Given the description of an element on the screen output the (x, y) to click on. 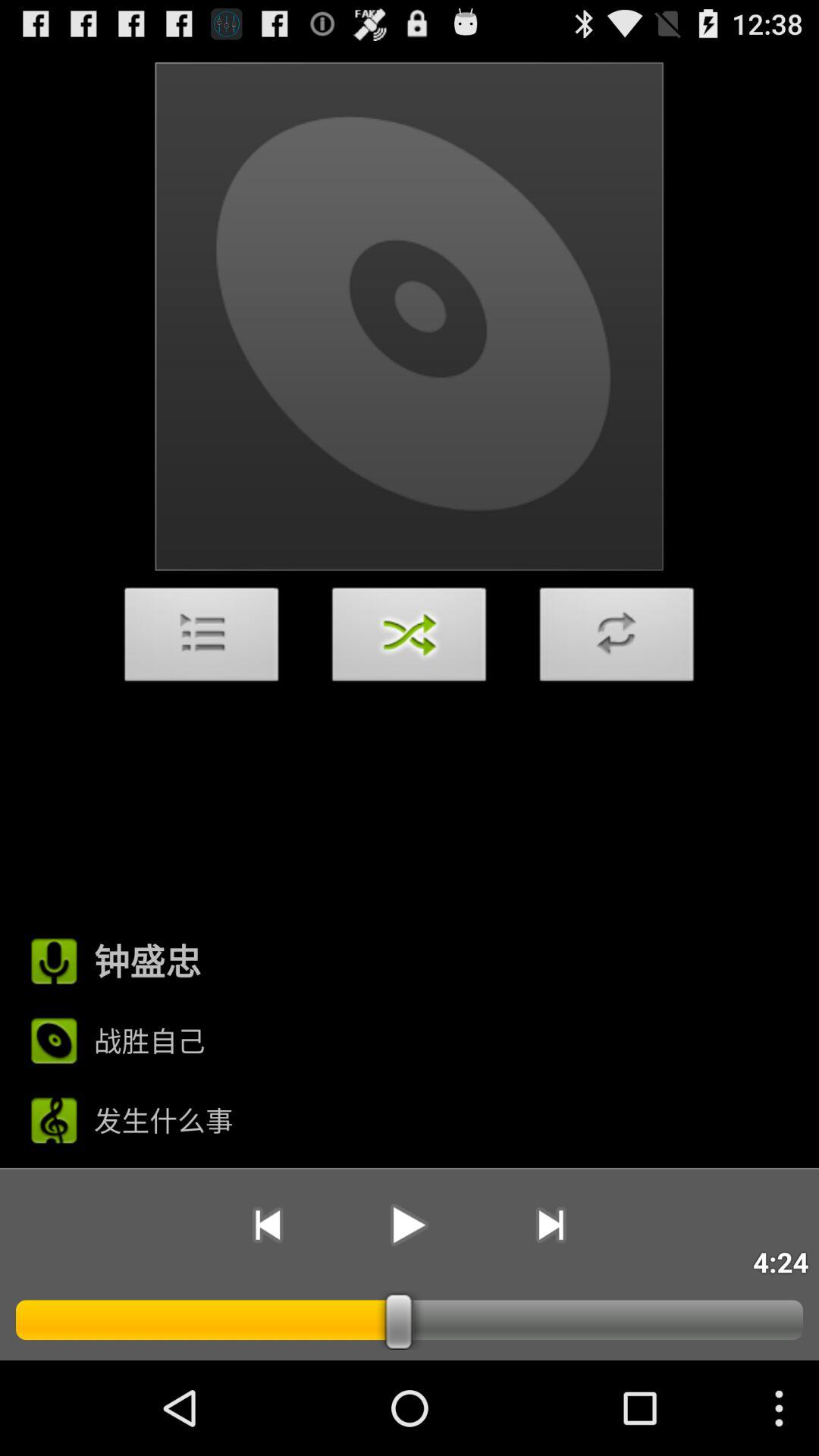
open app to the left of 4:24 icon (550, 1224)
